Given the description of an element on the screen output the (x, y) to click on. 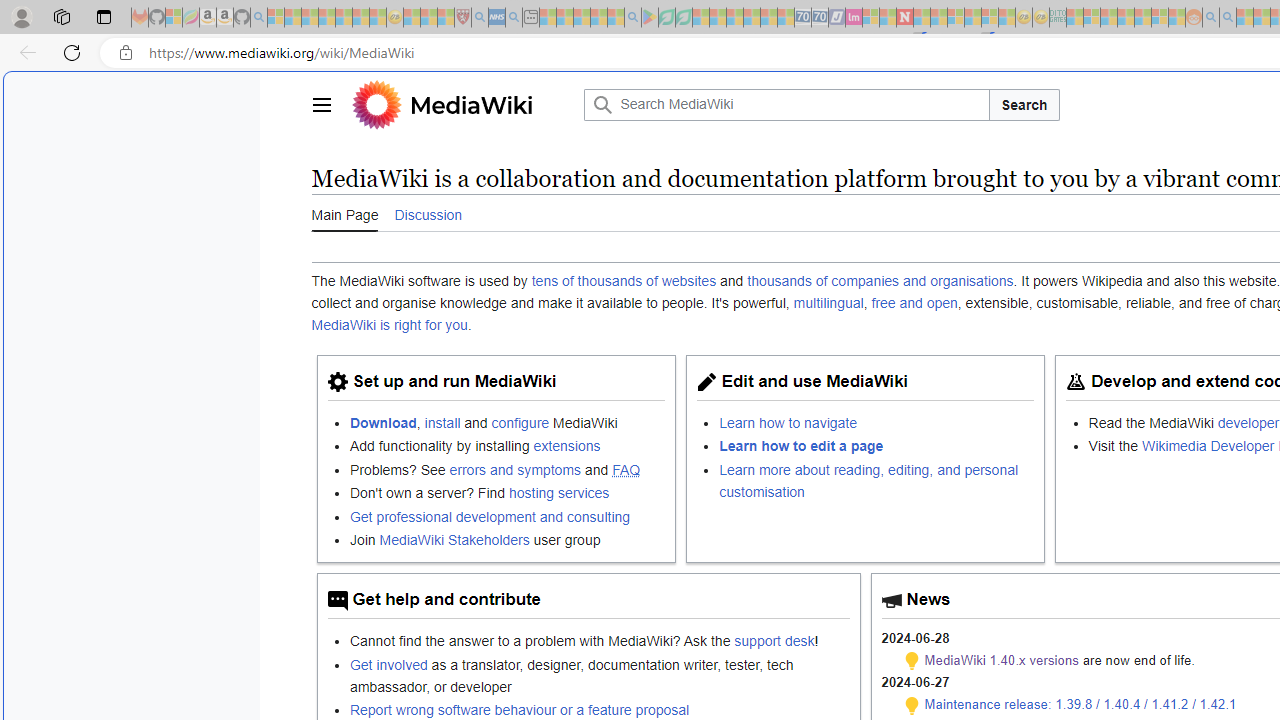
Discussion (428, 214)
Learn how to edit a page (877, 445)
support desk (774, 641)
errors and symptoms (515, 469)
Add functionality by installing extensions (507, 445)
utah sues federal government - Search - Sleeping (513, 17)
thousands of companies and organisations (880, 281)
